Given the description of an element on the screen output the (x, y) to click on. 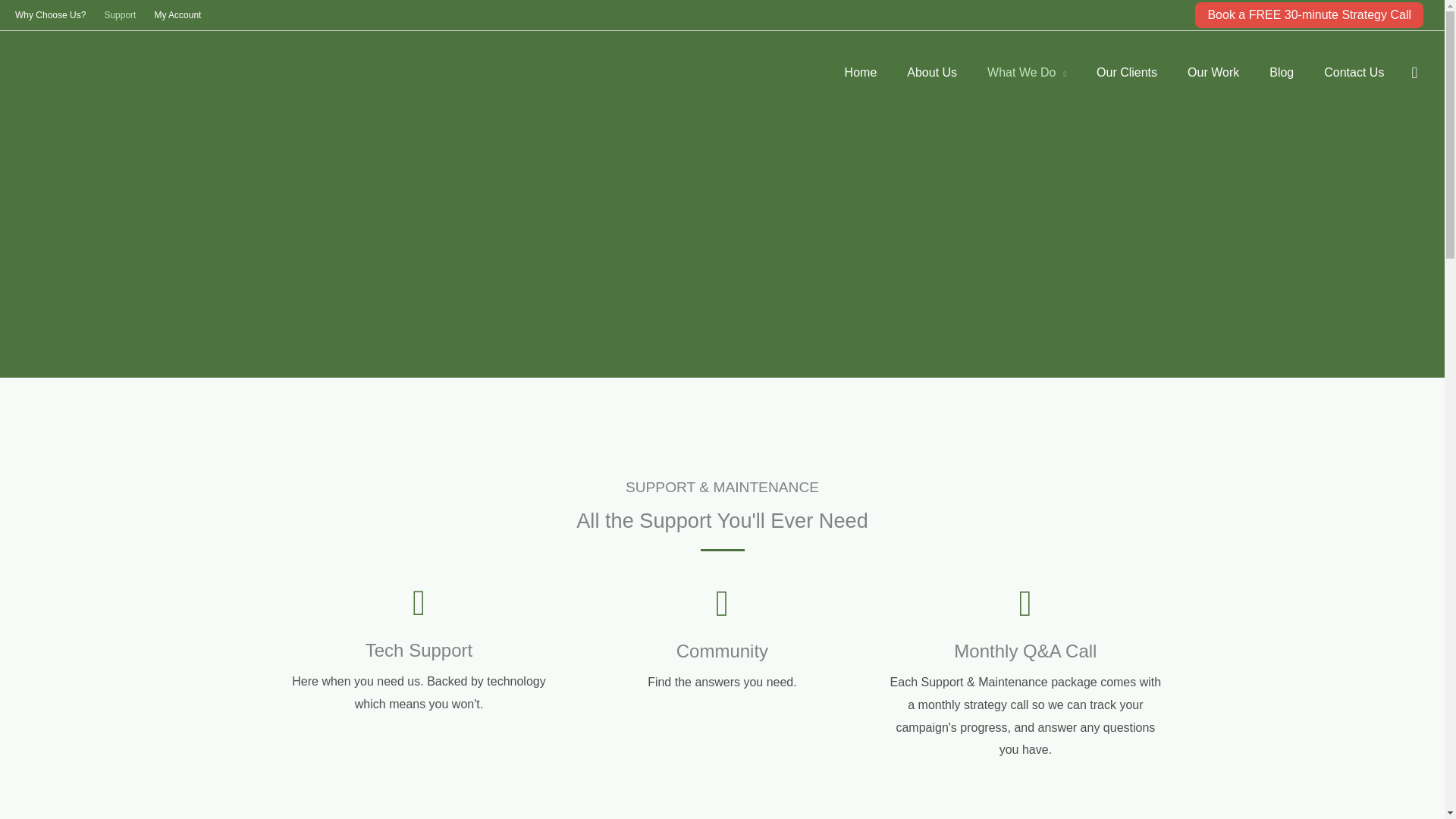
Support (119, 15)
Contact Us (1353, 72)
Our Work (1212, 72)
Book a FREE 30-minute Strategy Call (1309, 14)
Why Choose Us? (54, 15)
My Account (176, 15)
Home (860, 72)
About Us (931, 72)
What We Do (1026, 72)
Our Clients (1126, 72)
